Given the description of an element on the screen output the (x, y) to click on. 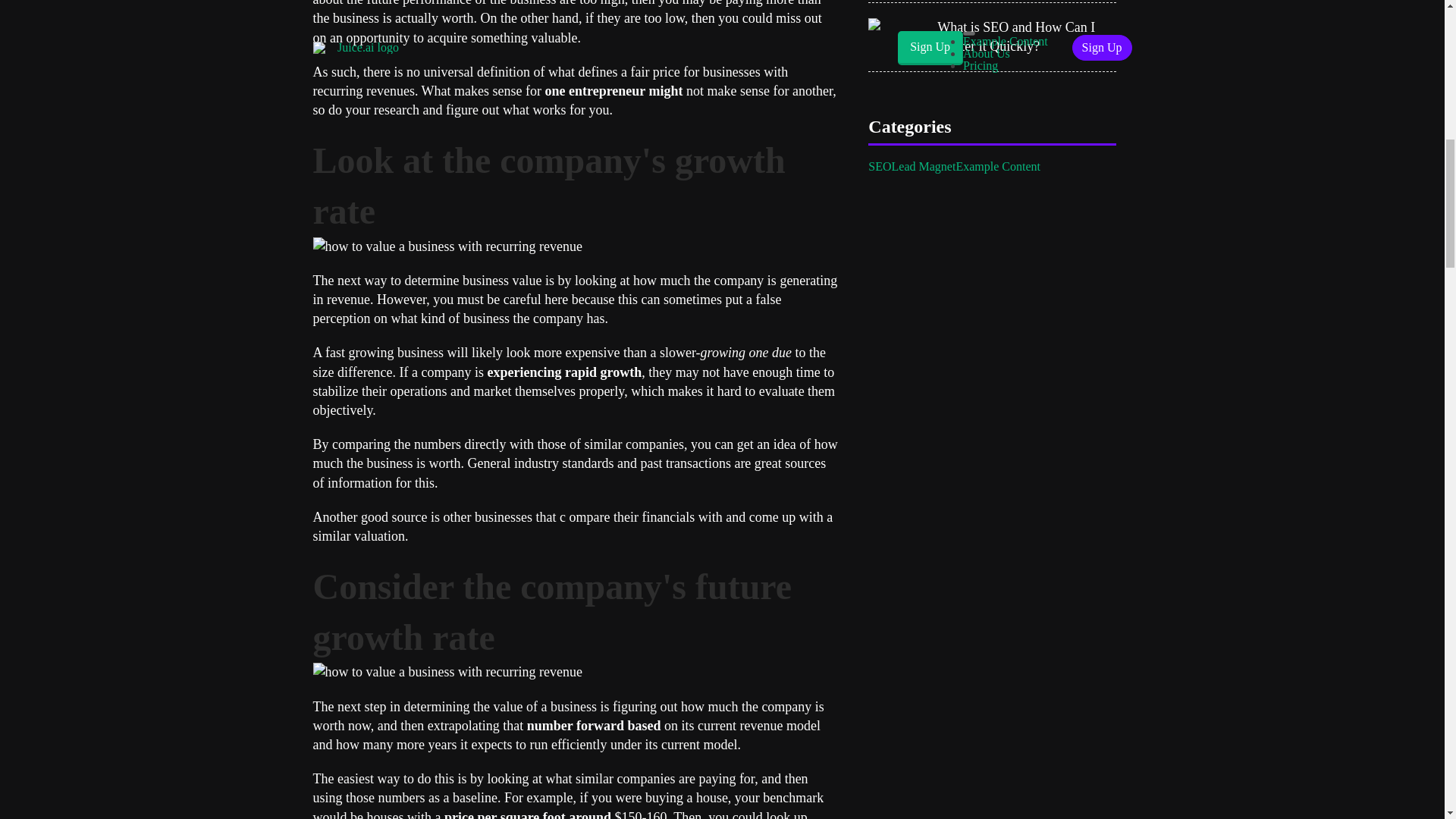
Lead Magnet (923, 166)
What is SEO and How Can I Master it Quickly? (1026, 37)
SEO (879, 166)
Example Content (998, 166)
